Given the description of an element on the screen output the (x, y) to click on. 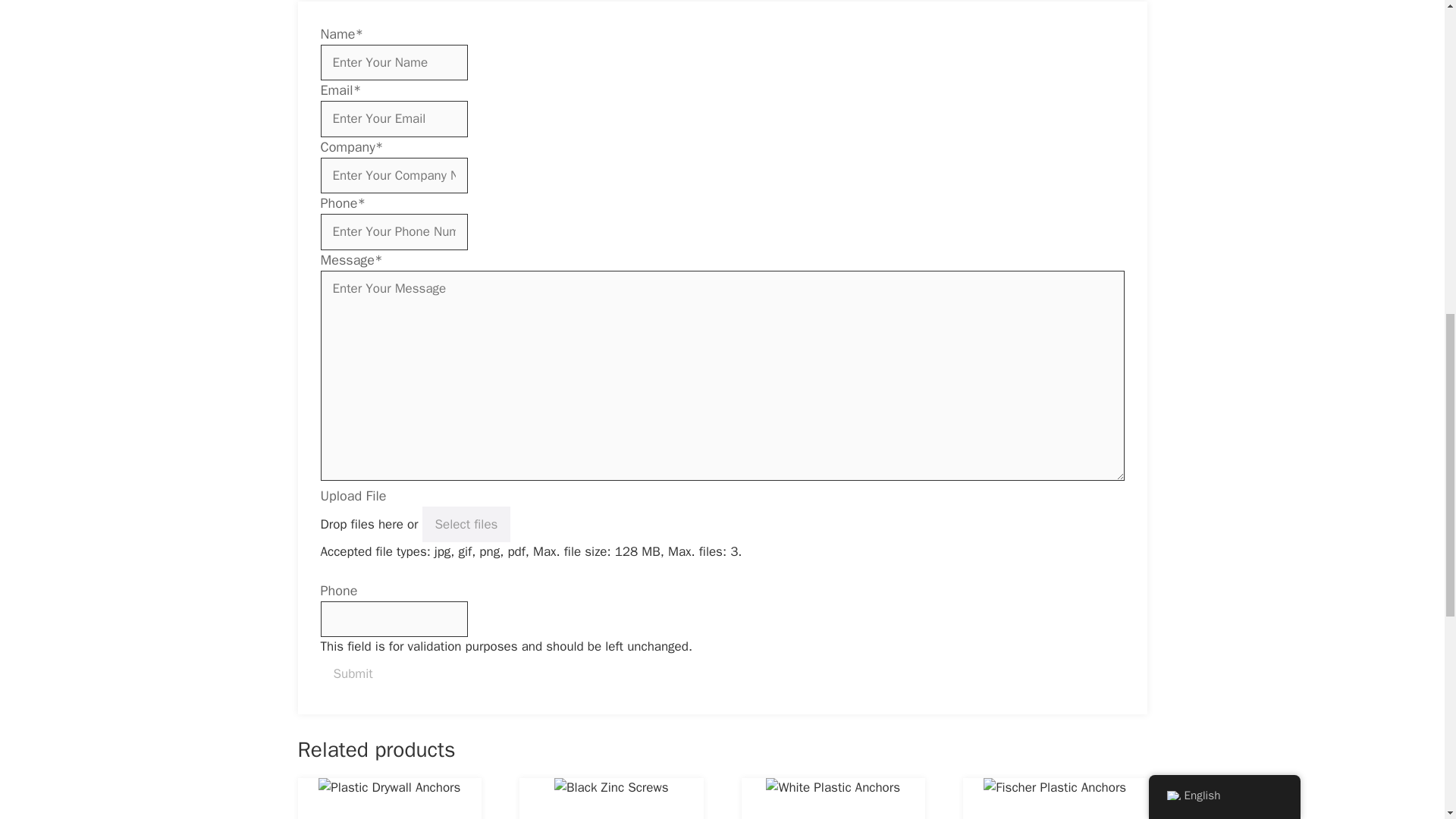
Submit (352, 674)
Scroll back to top (1406, 720)
